Given the description of an element on the screen output the (x, y) to click on. 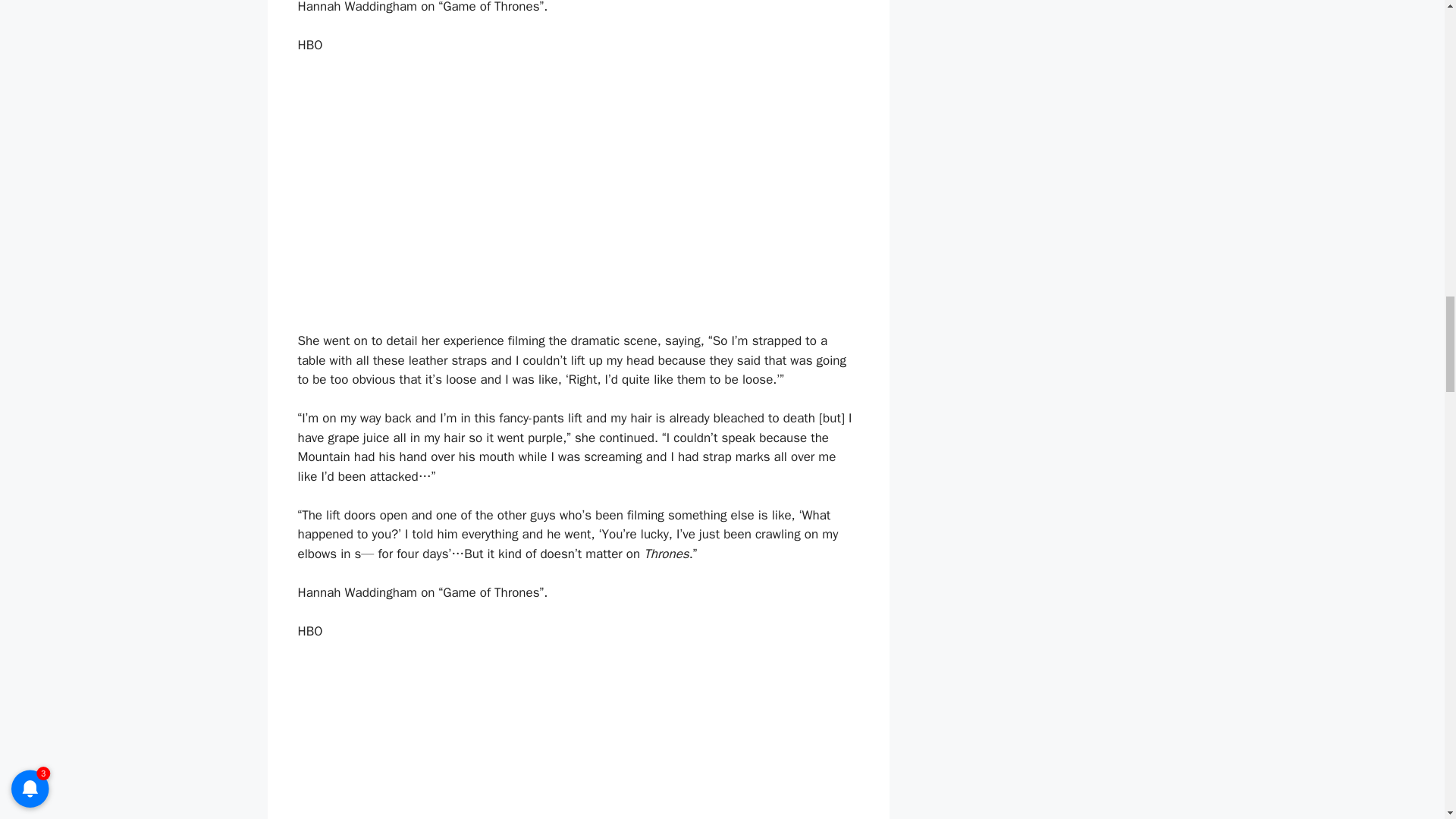
Advertisement (578, 219)
Advertisement (578, 759)
